Given the description of an element on the screen output the (x, y) to click on. 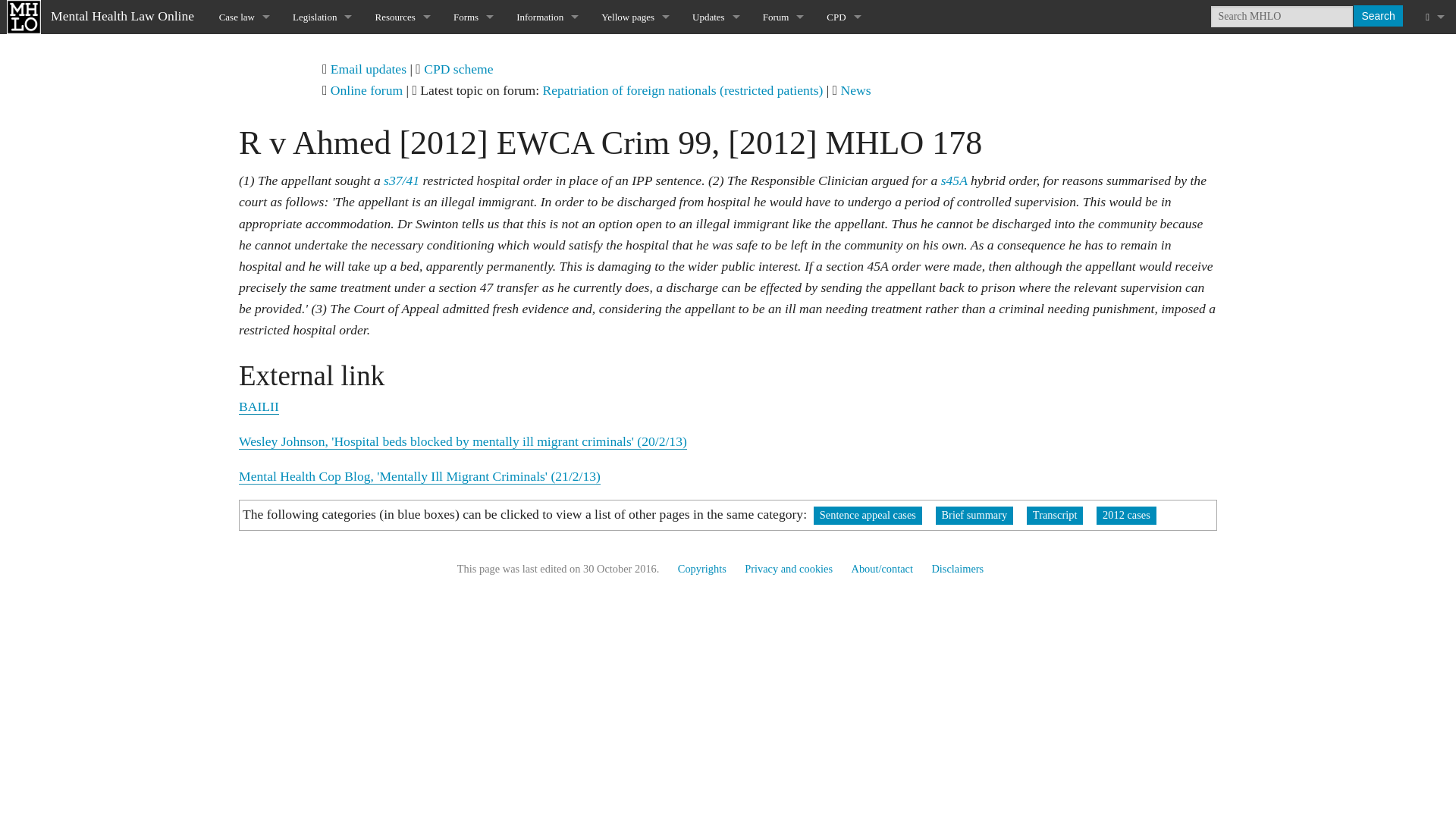
Full text of MCA 2005 (322, 153)
Tribunal forms (473, 221)
Browse case law (244, 50)
Resources (401, 17)
MHA Statutory Forms (473, 50)
MCA Codes of Practice (401, 187)
Legislation categories (322, 84)
Court of Protection forms (473, 187)
Foreign-language MHA information leaflets (473, 119)
All tribunal rules (322, 187)
Full text of MHA 1983 (322, 119)
Browse resources (401, 50)
Case law categories (244, 119)
Search case law (244, 84)
Search resources (401, 84)
